Given the description of an element on the screen output the (x, y) to click on. 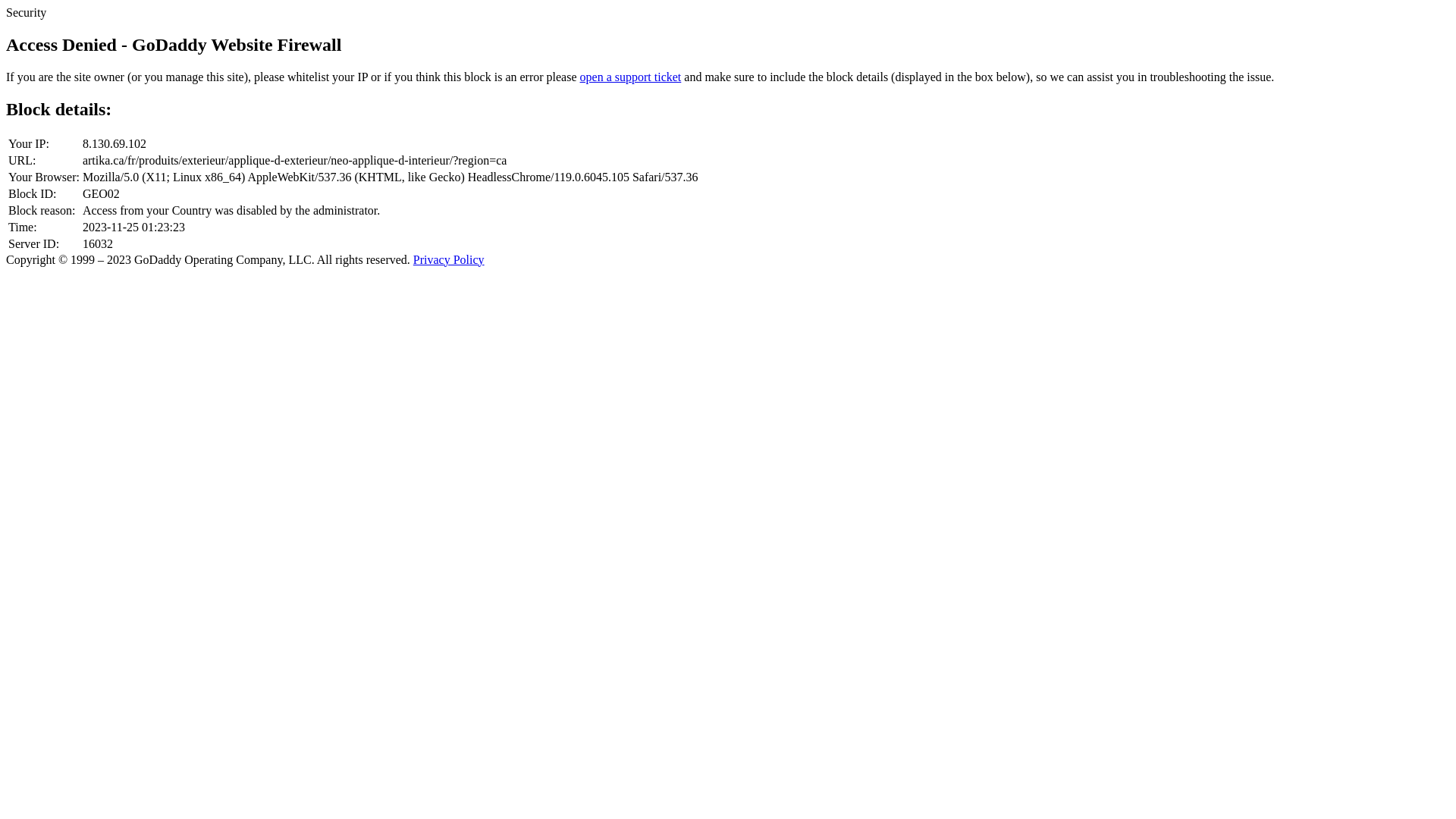
Privacy Policy Element type: text (448, 259)
open a support ticket Element type: text (630, 76)
